Given the description of an element on the screen output the (x, y) to click on. 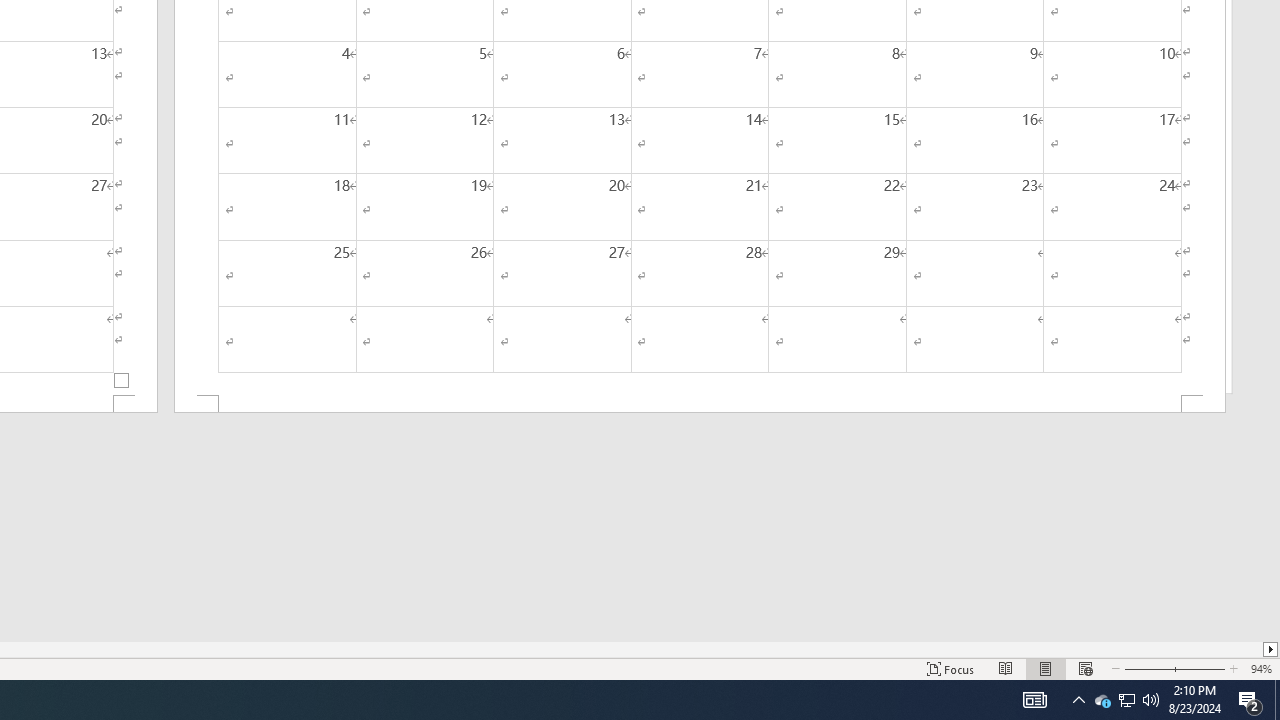
Column right (1271, 649)
Footer -Section 2- (700, 404)
Read Mode (1005, 668)
Print Layout (1046, 668)
Zoom In (1199, 668)
Web Layout (1085, 668)
Focus  (951, 668)
Zoom Out (1147, 668)
